Given the description of an element on the screen output the (x, y) to click on. 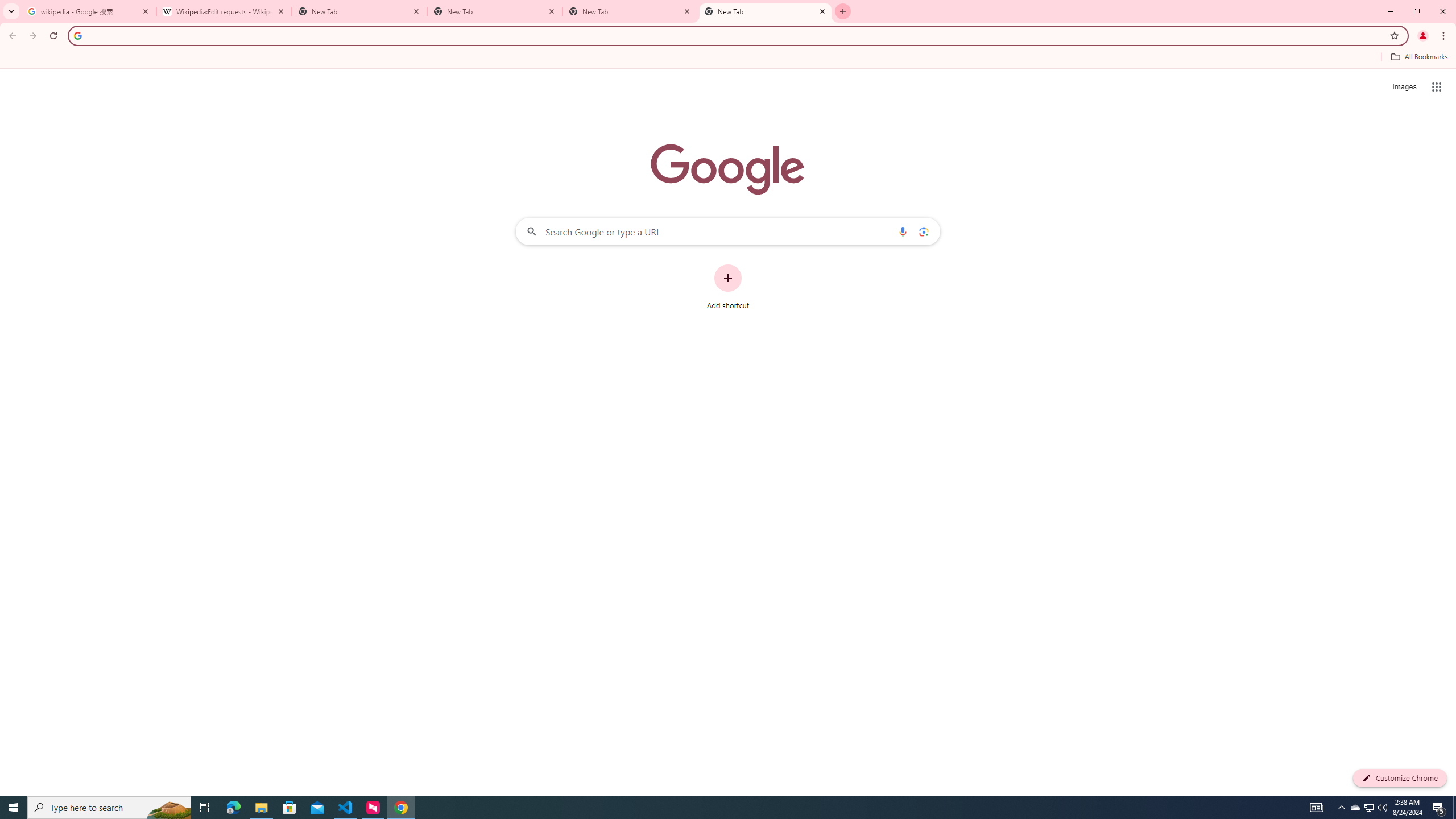
Google apps (1436, 86)
Customize Chrome (1399, 778)
